Given the description of an element on the screen output the (x, y) to click on. 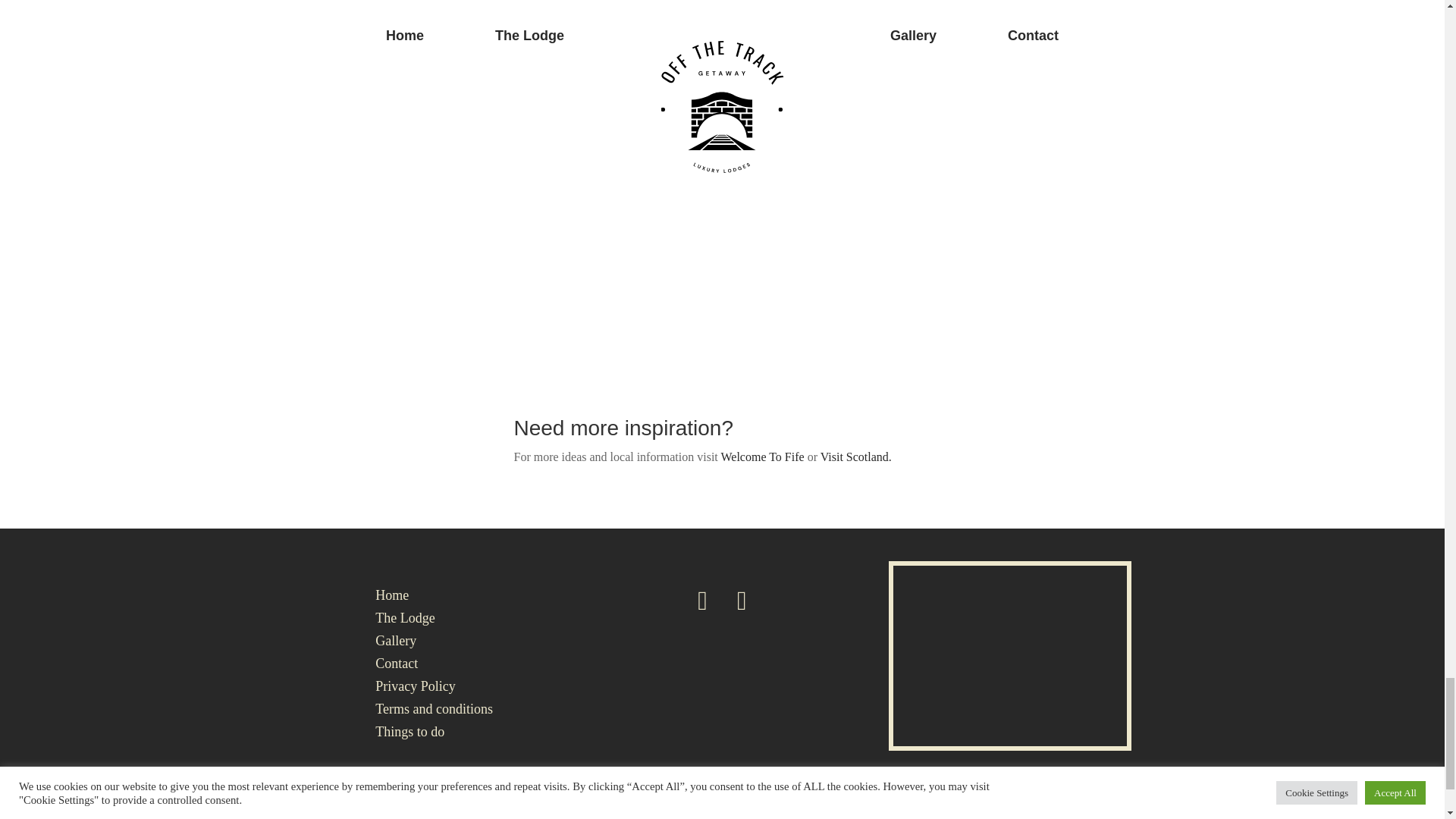
Privacy Policy (415, 688)
Contact (396, 666)
Welcome To Fife (763, 456)
Things to do (409, 734)
The Lodge (404, 620)
Home (392, 597)
Gallery (395, 643)
Visit Scotland. (856, 456)
Terms and conditions (434, 711)
